Given the description of an element on the screen output the (x, y) to click on. 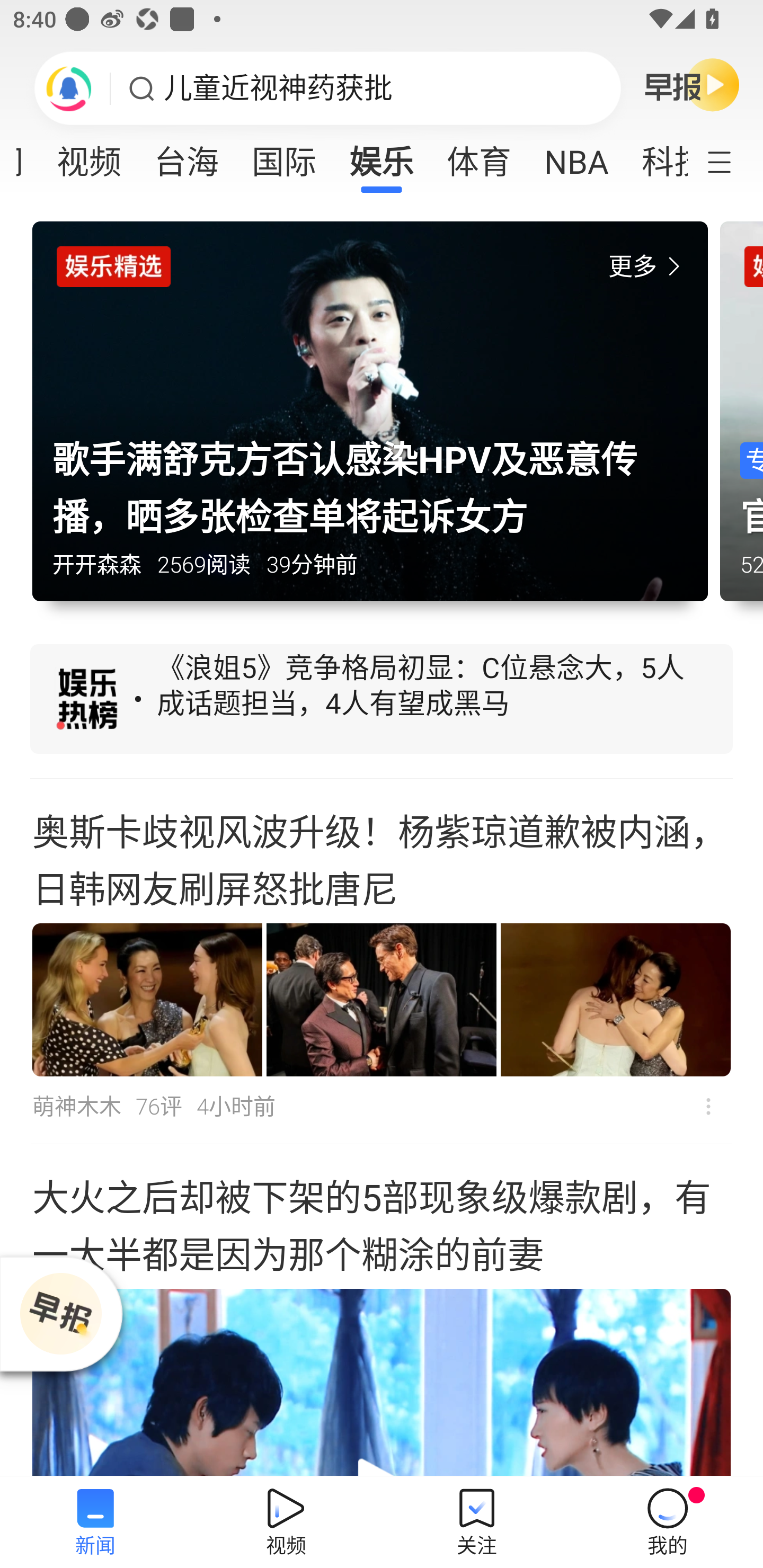
早晚报 (691, 84)
刷新 (68, 88)
儿童近视神药获批 (278, 88)
视频 (89, 155)
台海 (186, 155)
国际 (283, 155)
娱乐 (381, 155)
体育 (478, 155)
NBA (575, 155)
 定制频道 (731, 160)
更多  (648, 267)
本地热点榜 (381, 701)
 不感兴趣 (707, 1106)
大火之后却被下架的5部现象级爆款剧，有一大半都是因为那个糊涂的前妻 (381, 1310)
播放器 (60, 1313)
